Given the description of an element on the screen output the (x, y) to click on. 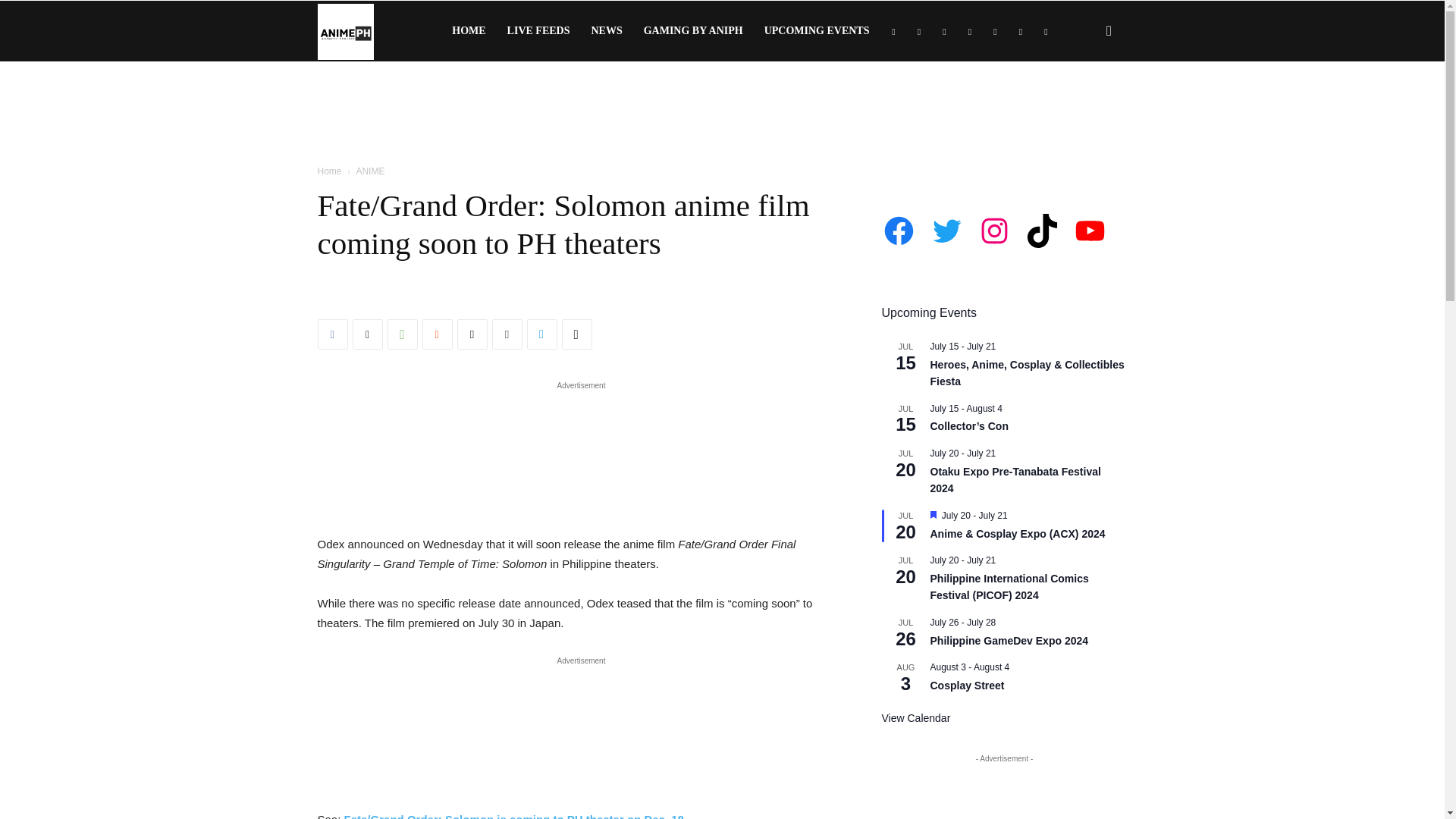
ANIMEPH (344, 30)
Advertisement (721, 113)
Search (1085, 103)
UPCOMING EVENTS (817, 30)
Home (328, 171)
HOME (468, 30)
LIVE FEEDS (538, 30)
GAMING BY ANIPH (693, 30)
